Given the description of an element on the screen output the (x, y) to click on. 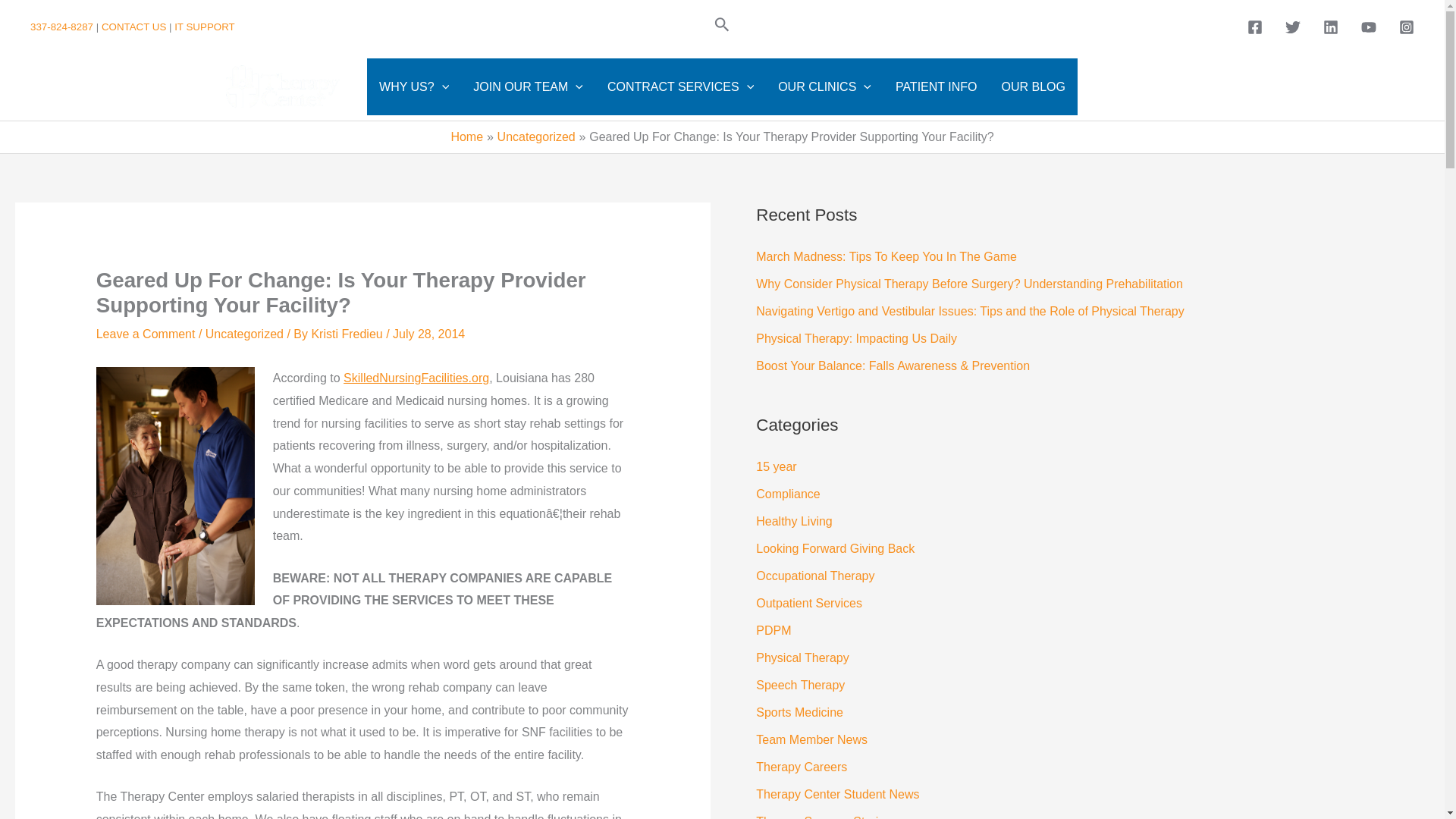
WHY US? (413, 86)
337-824-8287 (63, 26)
OUR CLINICS (824, 86)
View all posts by Kristi Fredieu (348, 333)
CONTRACT SERVICES (680, 86)
CONTACT US (133, 26)
IT SUPPORT (204, 26)
JOIN OUR TEAM (528, 86)
